Given the description of an element on the screen output the (x, y) to click on. 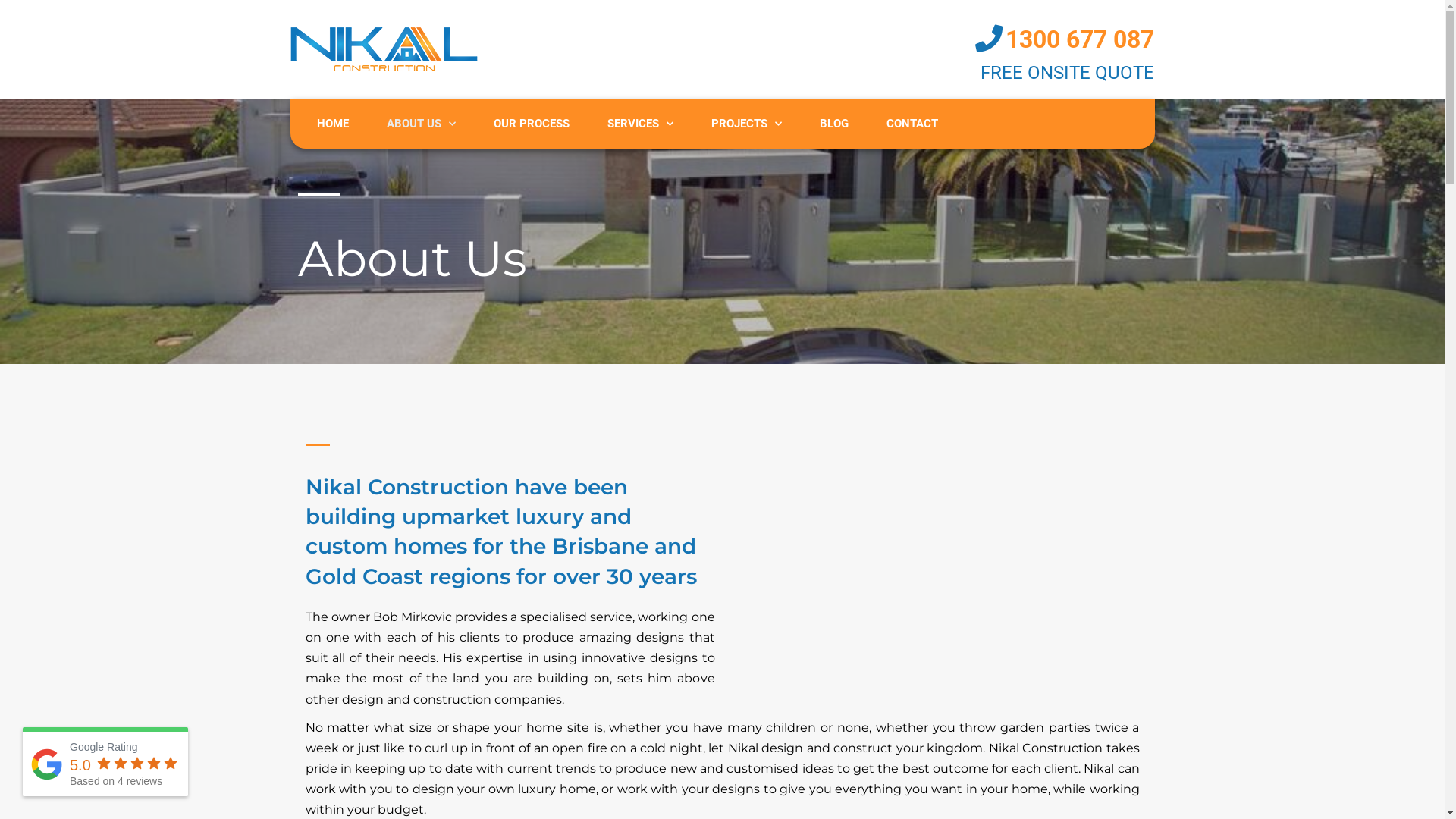
CONTACT Element type: text (912, 123)
FREE ONSITE QUOTE Element type: text (1067, 72)
SERVICES Element type: text (640, 123)
HOME Element type: text (332, 123)
BLOG Element type: text (833, 123)
1300 677 087 Element type: text (1079, 39)
OUR PROCESS Element type: text (531, 123)
PROJECTS Element type: text (745, 123)
ABOUT US Element type: text (420, 123)
